Given the description of an element on the screen output the (x, y) to click on. 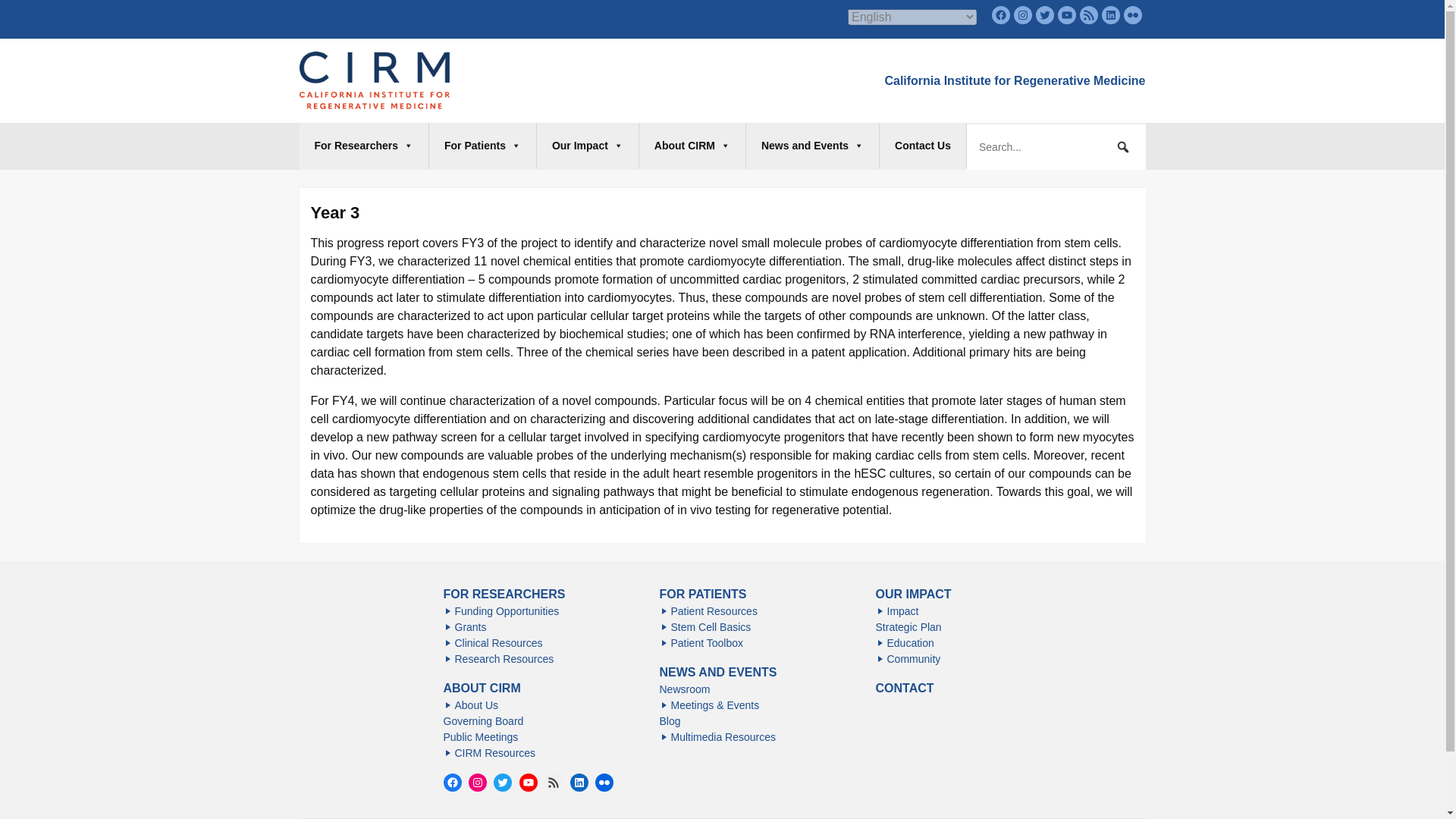
For Researchers (363, 145)
